Given the description of an element on the screen output the (x, y) to click on. 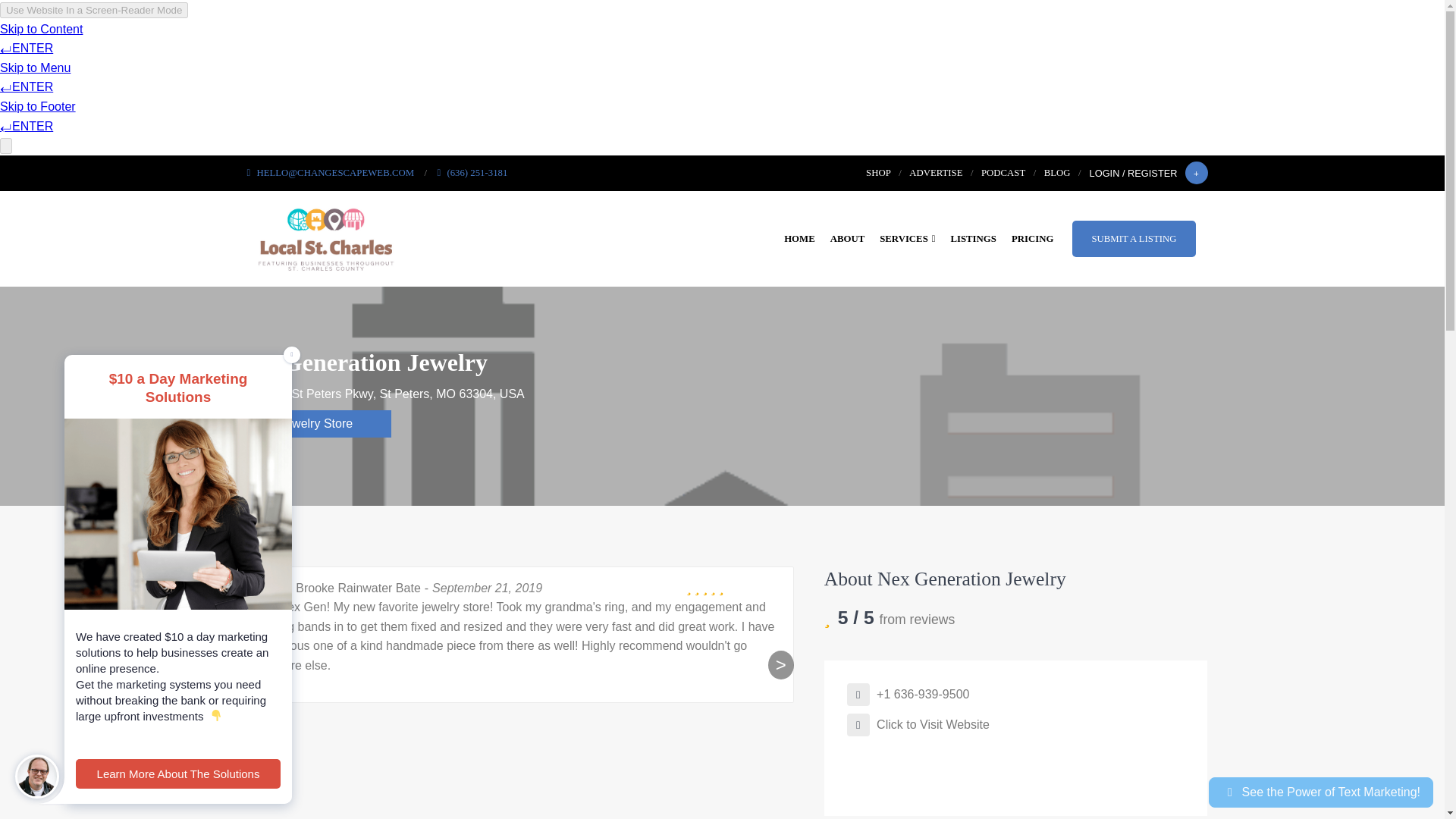
Click to Visit Website (918, 724)
HOME (799, 238)
ADVERTISE (935, 172)
SUBMIT A LISTING (1133, 238)
LISTINGS (972, 238)
PODCAST (1003, 172)
ABOUT (847, 238)
SERVICES (907, 238)
PRICING (1032, 238)
